Given the description of an element on the screen output the (x, y) to click on. 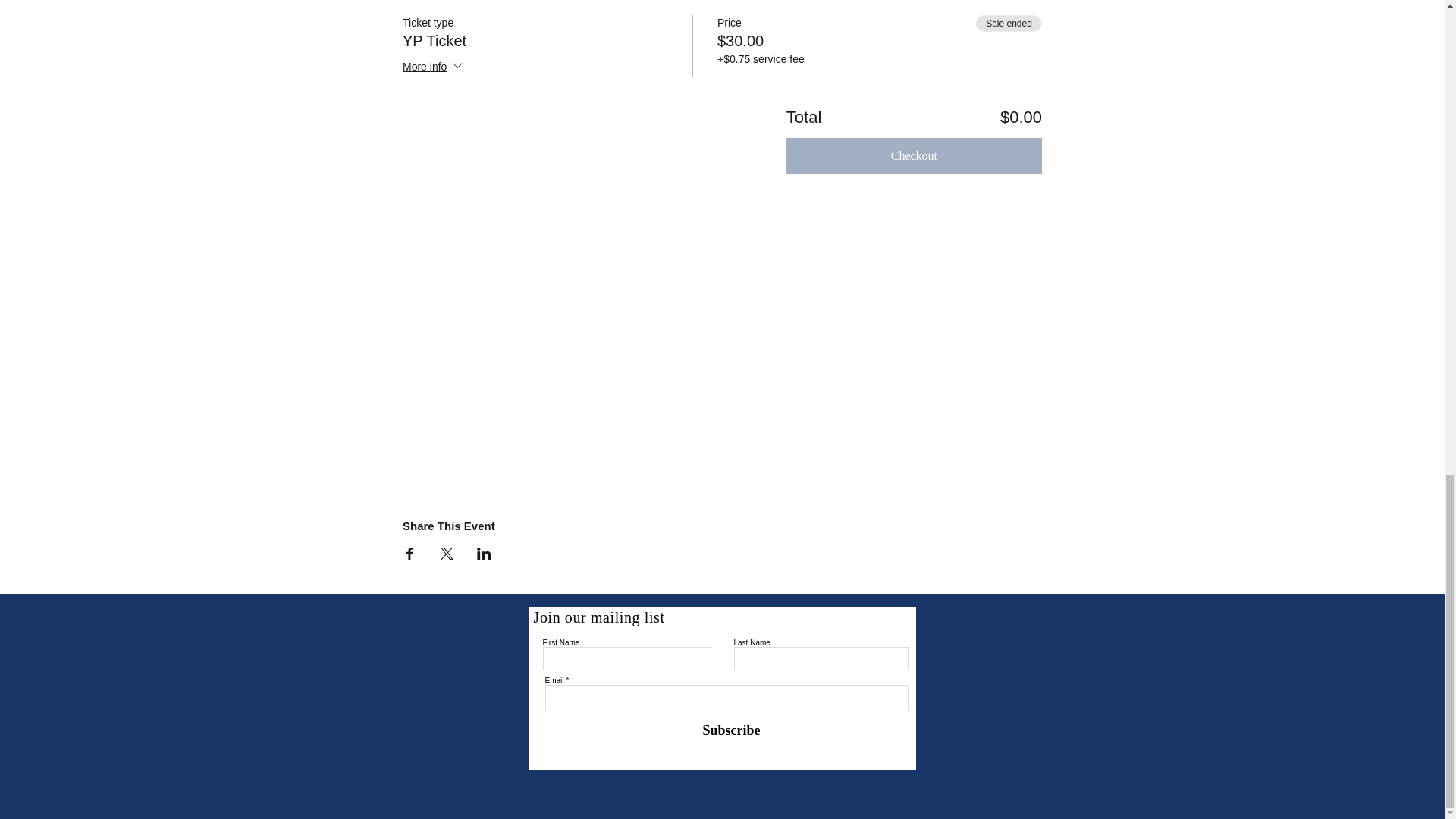
More info (434, 66)
Checkout (914, 156)
Subscribe (722, 730)
